Given the description of an element on the screen output the (x, y) to click on. 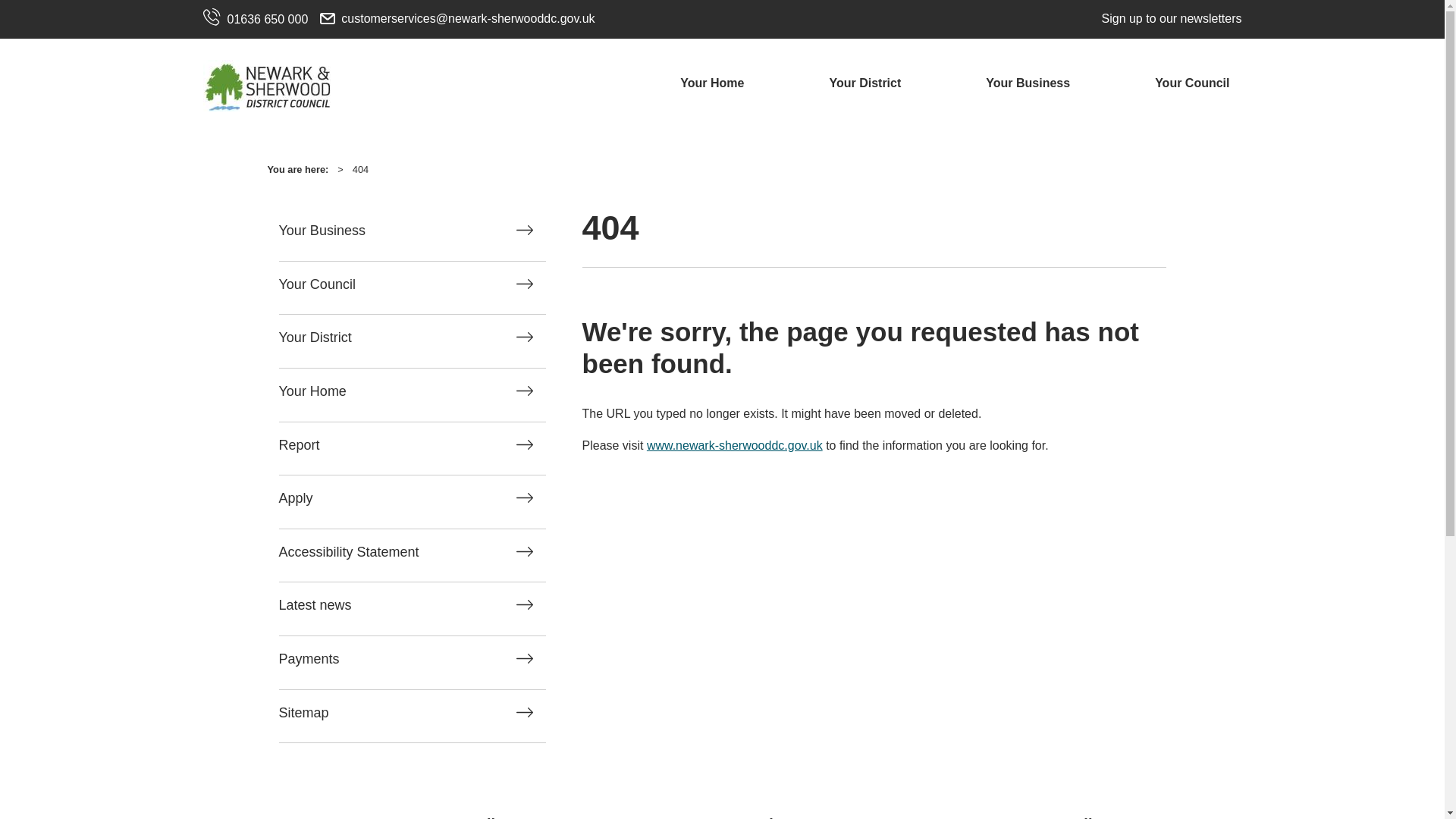
01636 650 000 (255, 19)
Sign up to our newsletters (1167, 18)
